Given the description of an element on the screen output the (x, y) to click on. 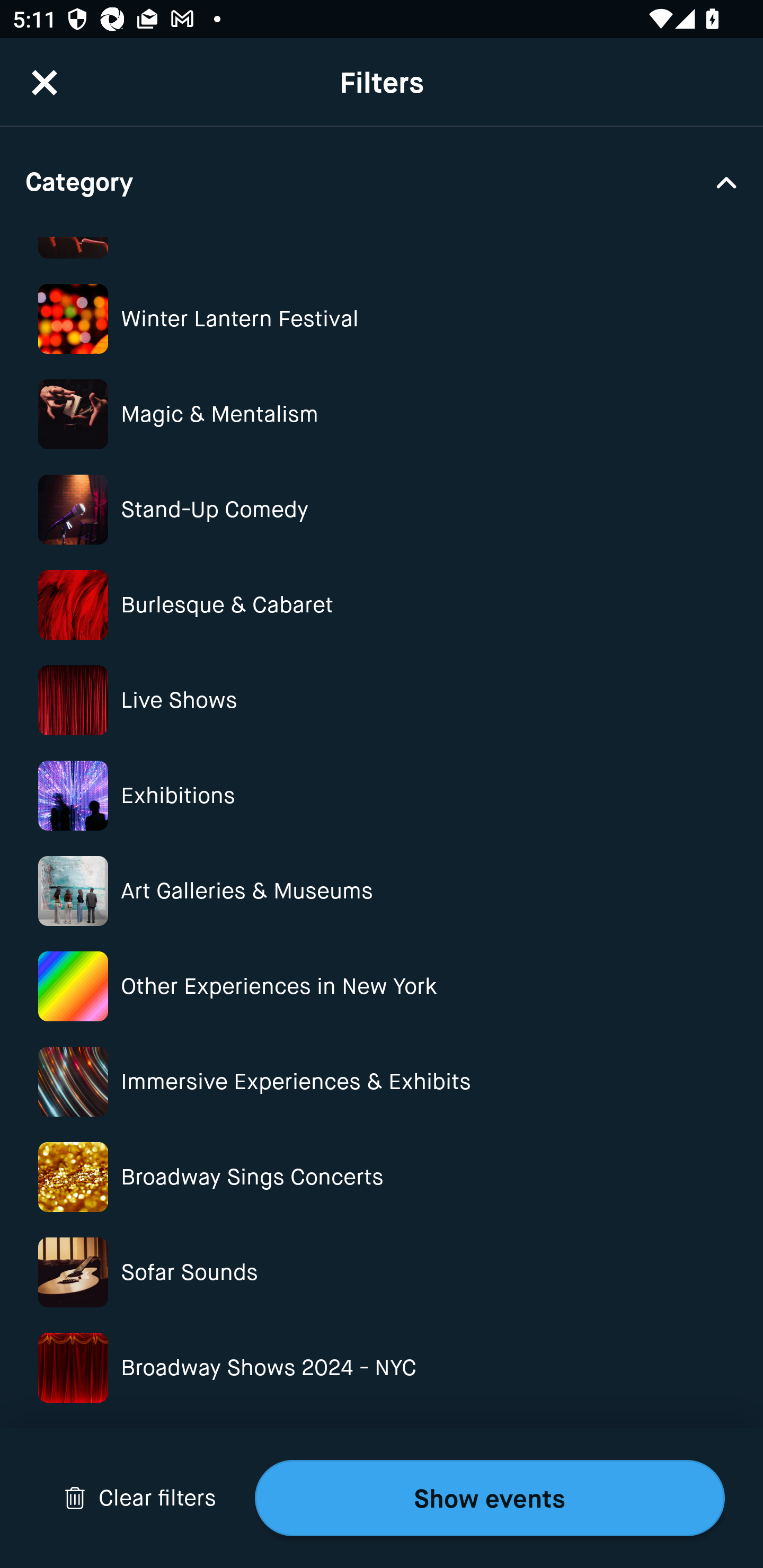
Category Drop Down Arrow (381, 181)
Category Image Winter Lantern Festival (381, 318)
Category Image Magic & Mentalism (381, 414)
Category Image Stand-Up Comedy (381, 509)
Category Image Burlesque & Cabaret (381, 604)
Category Image Live Shows (381, 699)
Category Image Exhibitions (381, 795)
Category Image Art Galleries & Museums (381, 890)
Category Image Other Experiences in New York (381, 985)
Category Image Immersive Experiences & Exhibits (381, 1081)
Category Image Broadway Sings Concerts (381, 1176)
Category Image Sofar Sounds (381, 1272)
Category Image Broadway Shows 2024 - NYC (381, 1367)
Drop Down Arrow Clear filters (139, 1497)
Show events (489, 1497)
